Given the description of an element on the screen output the (x, y) to click on. 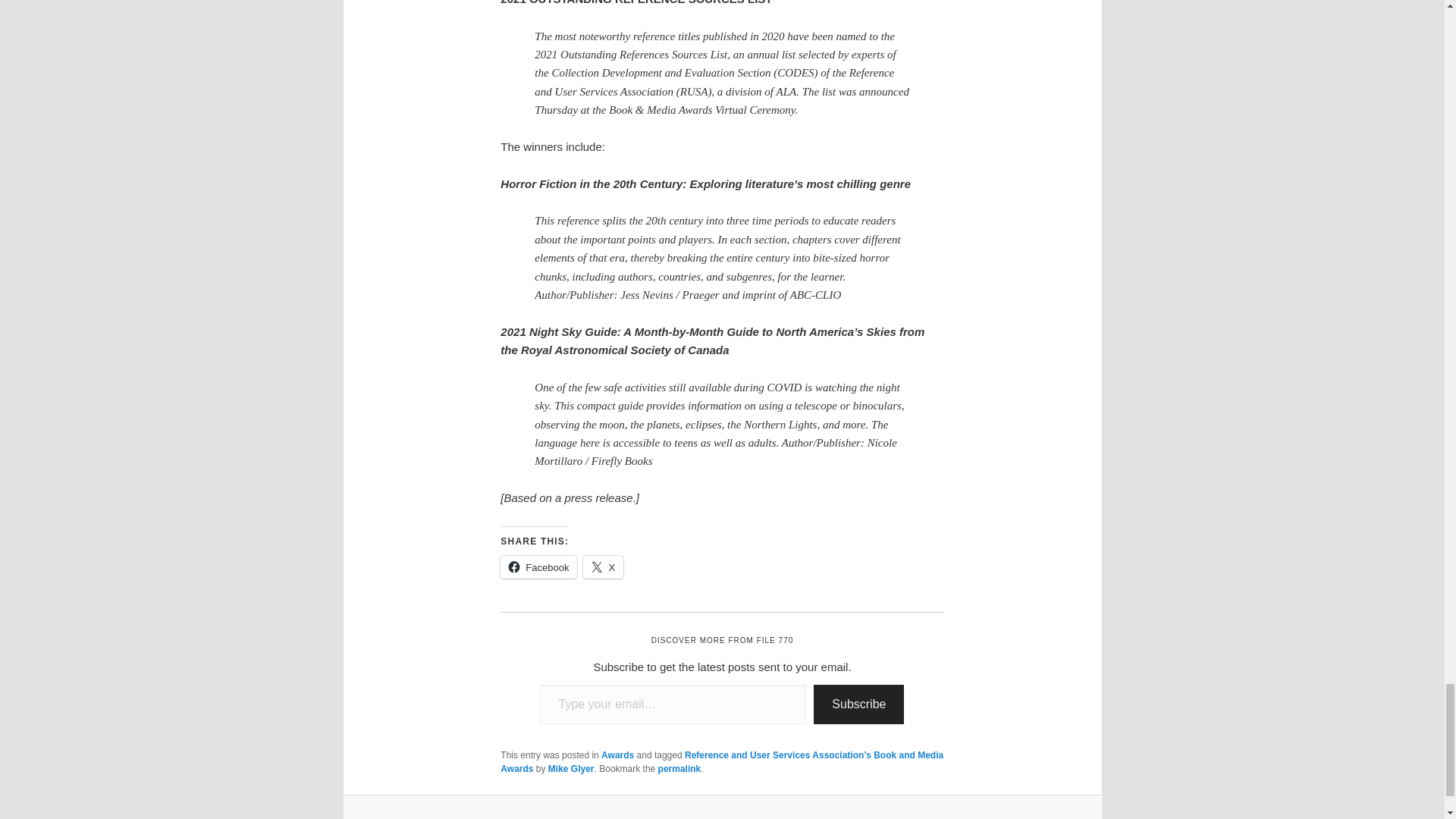
Please fill in this field. (673, 704)
Mike Glyer (571, 768)
X (603, 567)
Click to share on X (603, 567)
Click to share on Facebook (538, 567)
Facebook (538, 567)
Awards (617, 755)
permalink (679, 768)
Subscribe (858, 704)
